Given the description of an element on the screen output the (x, y) to click on. 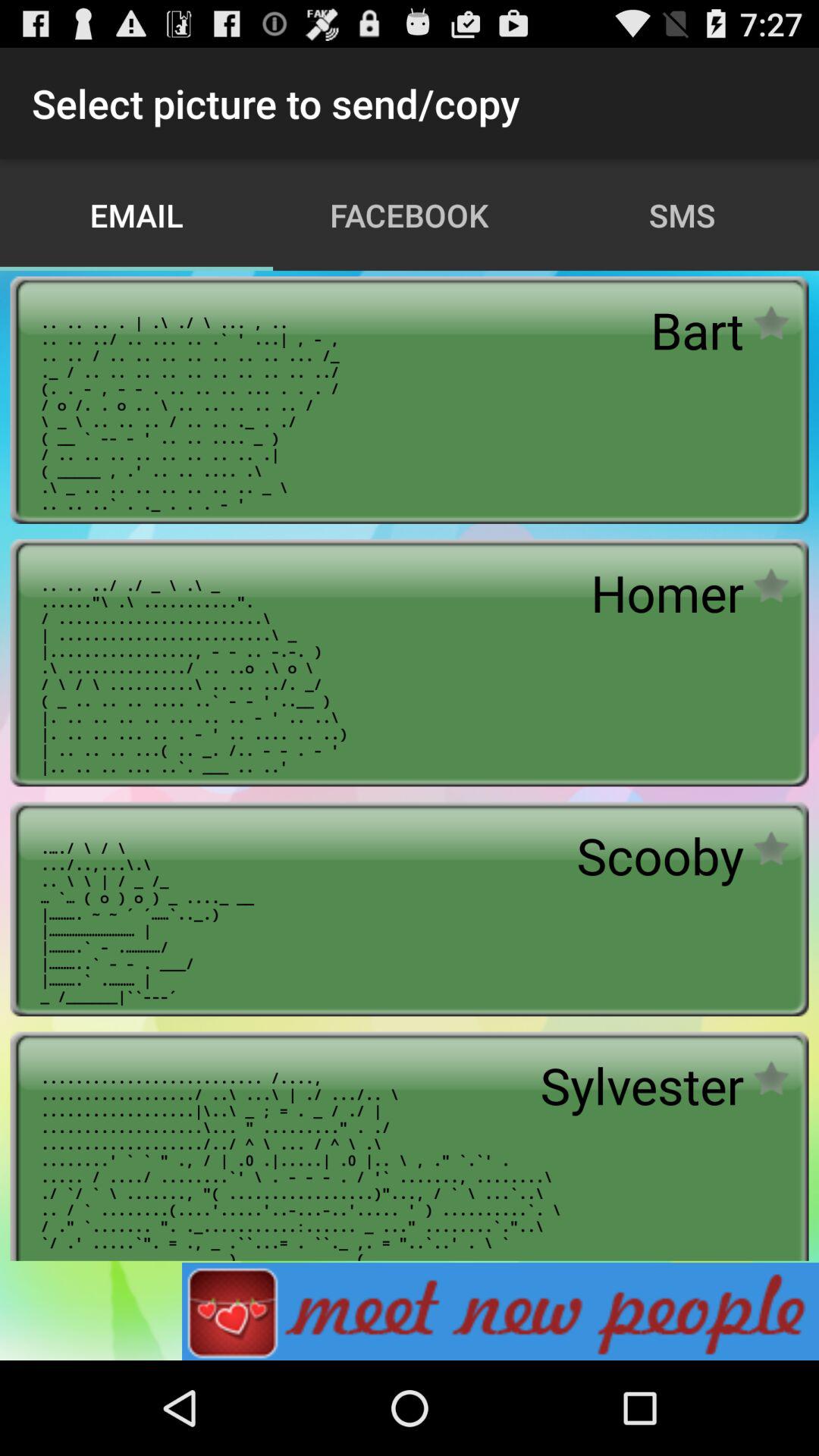
select advertisement (500, 1311)
